Given the description of an element on the screen output the (x, y) to click on. 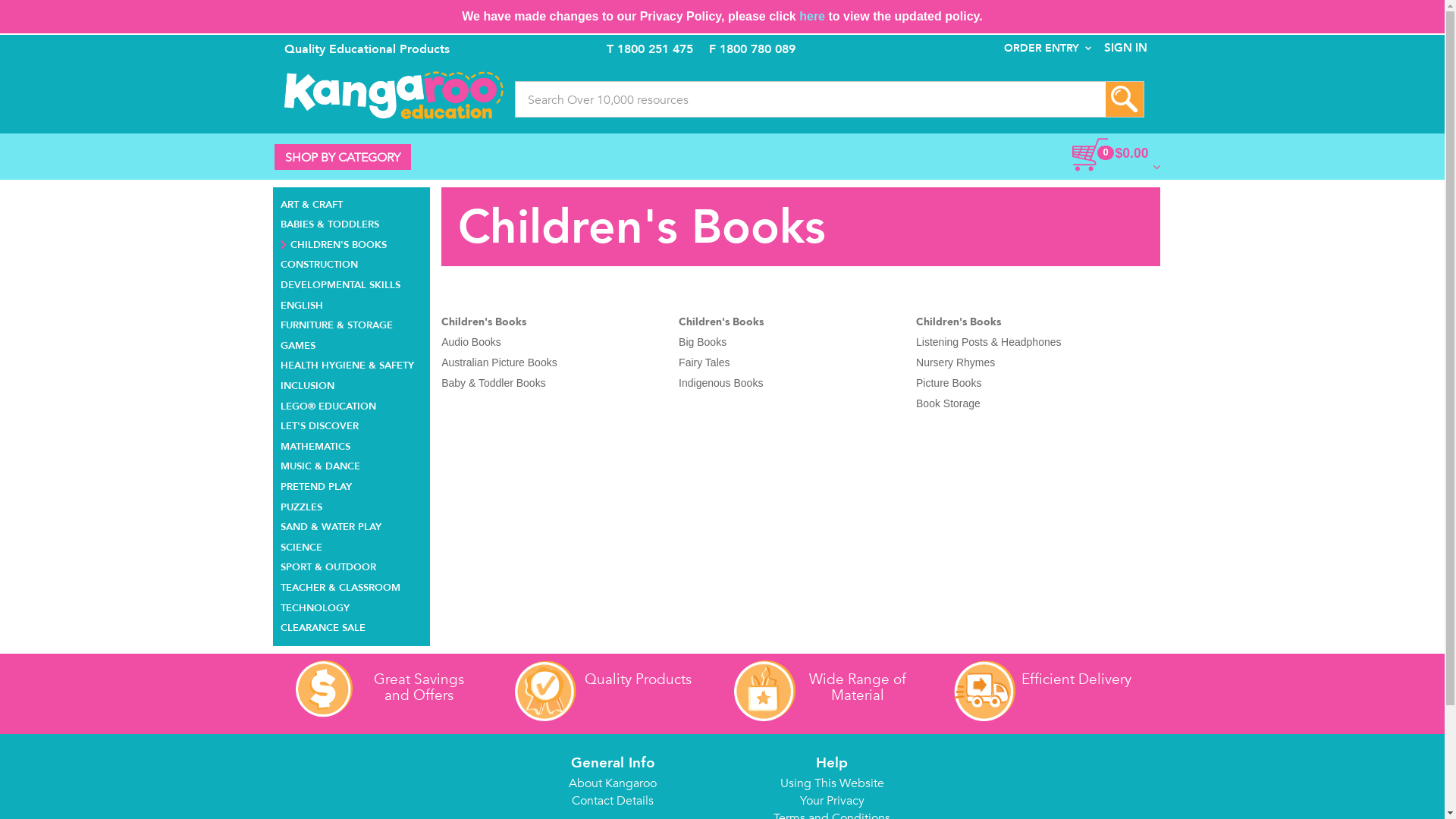
SAND & WATER PLAY Element type: text (330, 524)
Listening Posts & Headphones Element type: text (988, 341)
SPORT & OUTDOOR Element type: text (328, 565)
Contact Details Element type: text (612, 800)
Nursery Rhymes Element type: text (955, 362)
Australian Picture Books Element type: text (499, 362)
SIGN IN Element type: text (1125, 47)
SHOP BY CATEGORY Element type: text (342, 156)
ENGLISH Element type: text (301, 303)
PUZZLES Element type: text (301, 505)
Audio Books Element type: text (471, 341)
Picture Books Element type: text (948, 382)
LET'S DISCOVER Element type: text (319, 424)
Your Privacy Element type: text (831, 800)
PRETEND PLAY Element type: text (315, 484)
Using This Website Element type: text (831, 783)
DEVELOPMENTAL SKILLS Element type: text (340, 282)
ART & CRAFT Element type: text (311, 202)
GAMES Element type: text (297, 343)
Indigenous Books Element type: text (720, 382)
Big Books Element type: text (702, 341)
Baby & Toddler Books Element type: text (493, 382)
About Kangaroo Element type: text (612, 783)
F 1800 780 089 Element type: text (752, 48)
BABIES & TODDLERS Element type: text (329, 222)
MATHEMATICS Element type: text (315, 444)
FURNITURE & STORAGE Element type: text (336, 323)
Book Storage Element type: text (948, 403)
TEACHER & CLASSROOM Element type: text (340, 585)
TECHNOLOGY Element type: text (314, 606)
Home Element type: hover (392, 95)
here Element type: text (812, 15)
CLEARANCE SALE Element type: text (322, 625)
CHILDREN'S BOOKS Element type: text (333, 242)
CONSTRUCTION Element type: text (318, 262)
Fairy Tales Element type: text (703, 362)
INCLUSION Element type: text (307, 383)
SCIENCE Element type: text (301, 545)
HEALTH HYGIENE & SAFETY Element type: text (347, 363)
MUSIC & DANCE Element type: text (320, 464)
0
$0.00 Element type: text (1081, 153)
T 1800 251 475 Element type: text (649, 48)
ORDER ENTRY Element type: text (1047, 47)
